Given the description of an element on the screen output the (x, y) to click on. 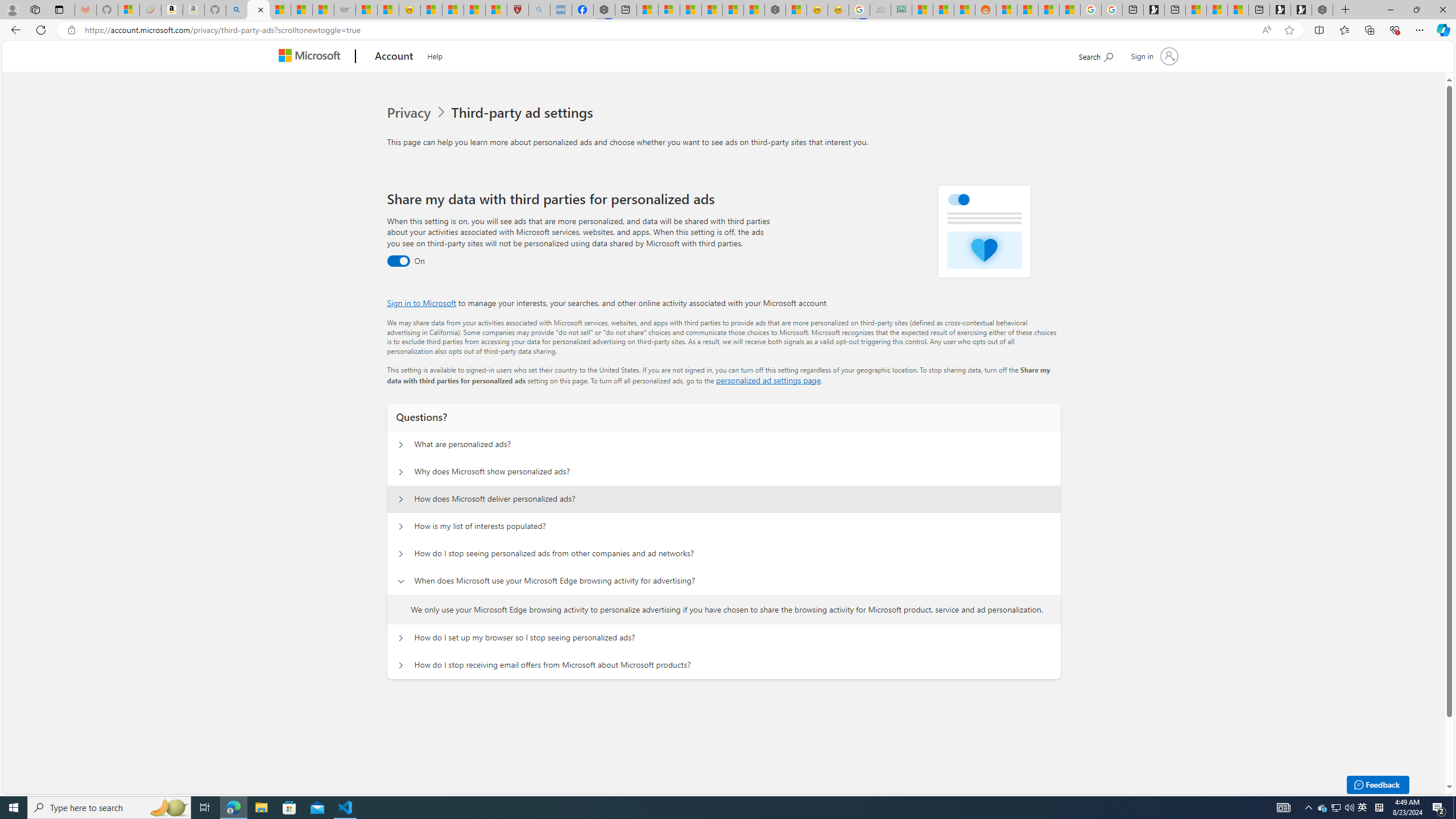
Search Microsoft.com (1095, 54)
Third-party ad settings (523, 112)
